Given the description of an element on the screen output the (x, y) to click on. 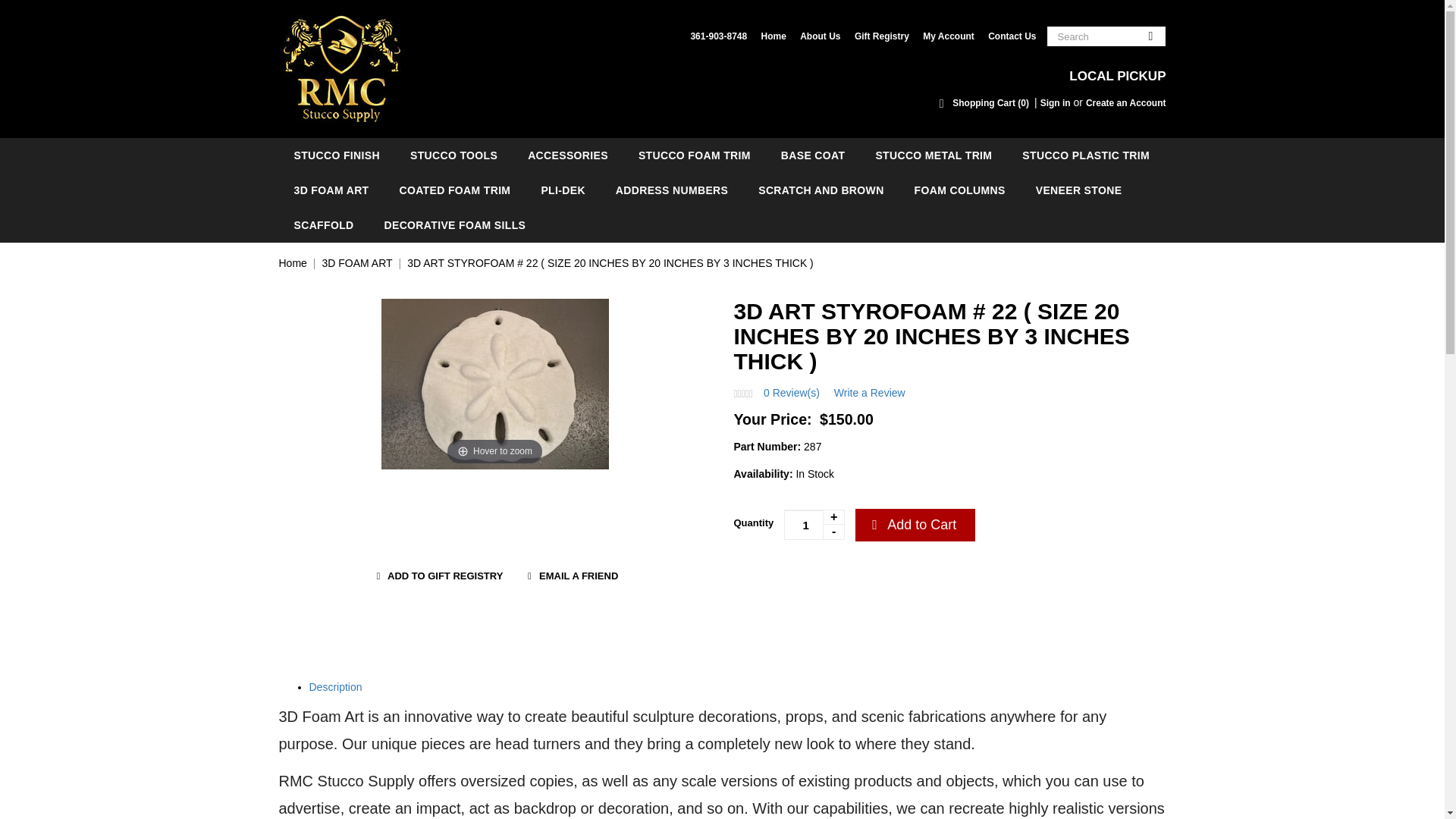
STUCCO PLASTIC TRIM (1085, 155)
Contact Us (1011, 36)
STUCCO FINISH (336, 155)
STUCCO FOAM TRIM (694, 155)
PayPal (828, 581)
3D FOAM ART (331, 190)
3D FOAM ART (356, 263)
FOAM COLUMNS (959, 190)
ACCESSORIES (567, 155)
ADDRESS NUMBERS (670, 190)
361-903-8748 (718, 36)
Sign in (1055, 102)
COATED FOAM TRIM (454, 190)
PLI-DEK (562, 190)
Create an Account (1126, 102)
